Given the description of an element on the screen output the (x, y) to click on. 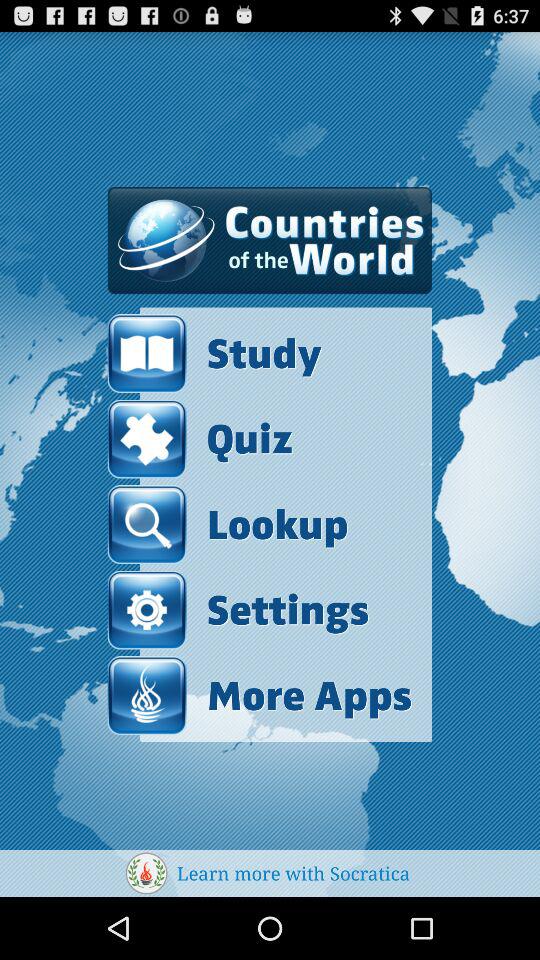
turn on item below lookup (238, 609)
